Given the description of an element on the screen output the (x, y) to click on. 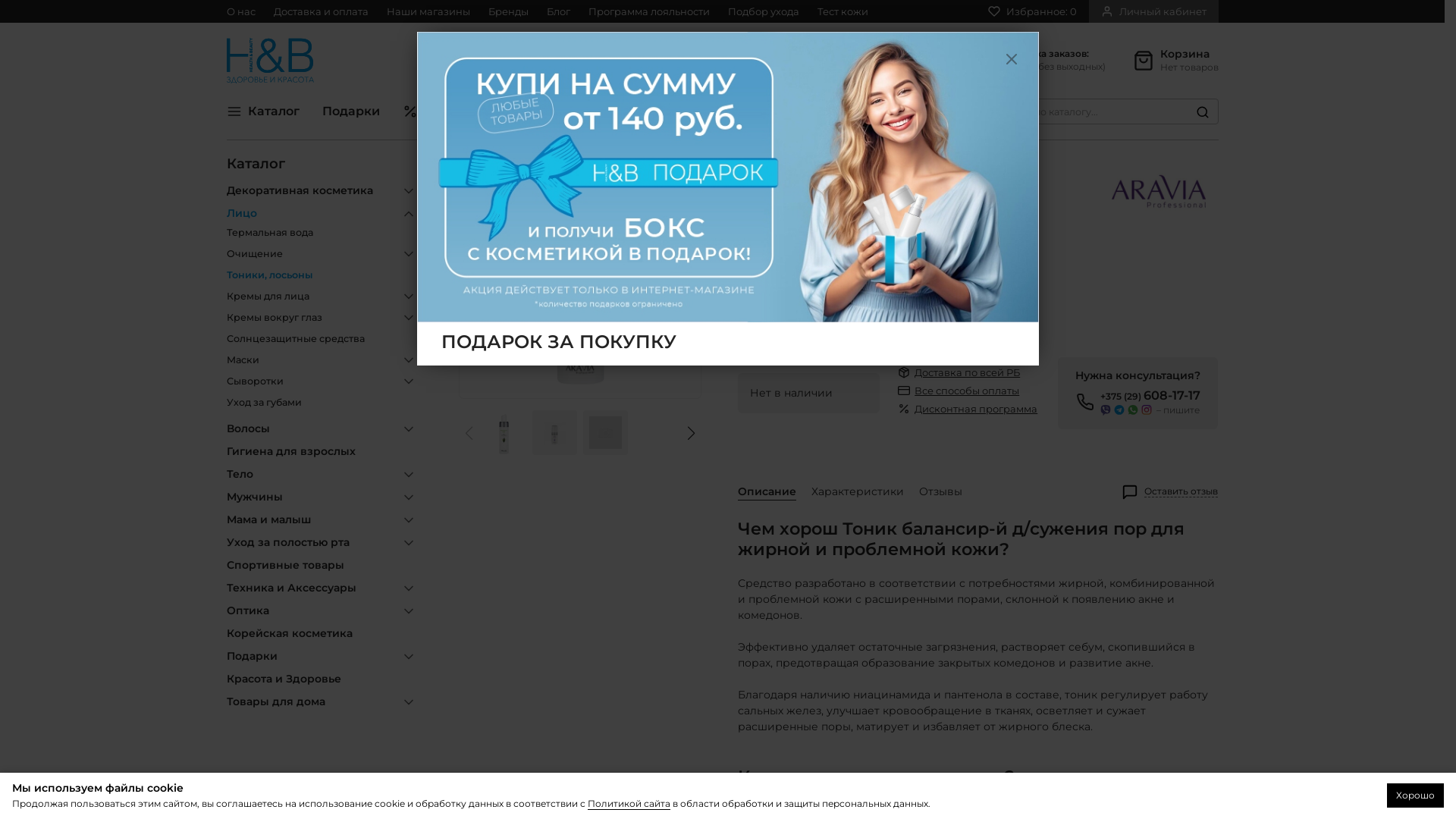
+375 (29) 608-17-17 Element type: text (1150, 395)
+375 (29) 608-17-17 Element type: text (803, 54)
